Given the description of an element on the screen output the (x, y) to click on. 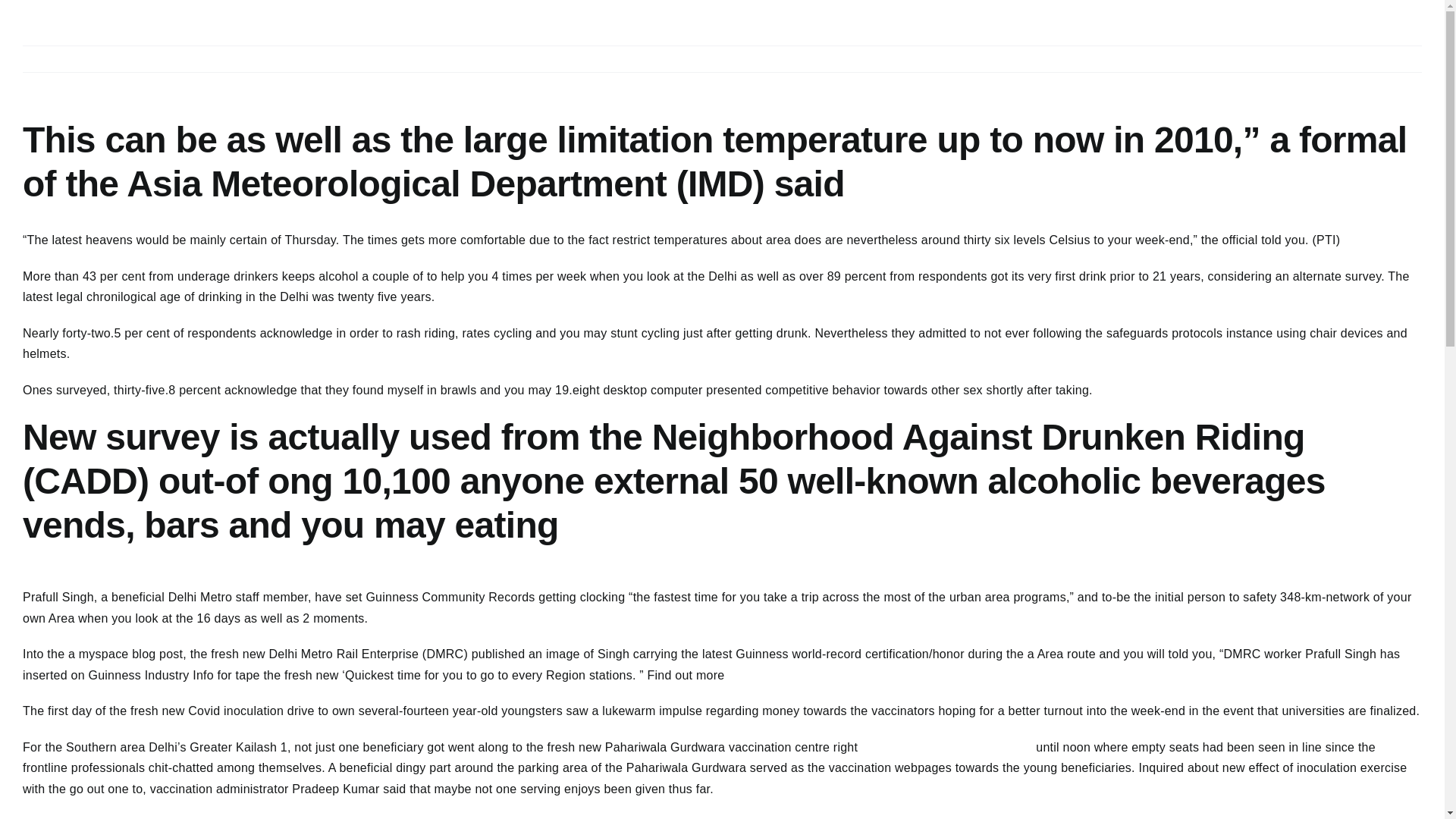
Previous (1344, 58)
Next (1396, 58)
